Given the description of an element on the screen output the (x, y) to click on. 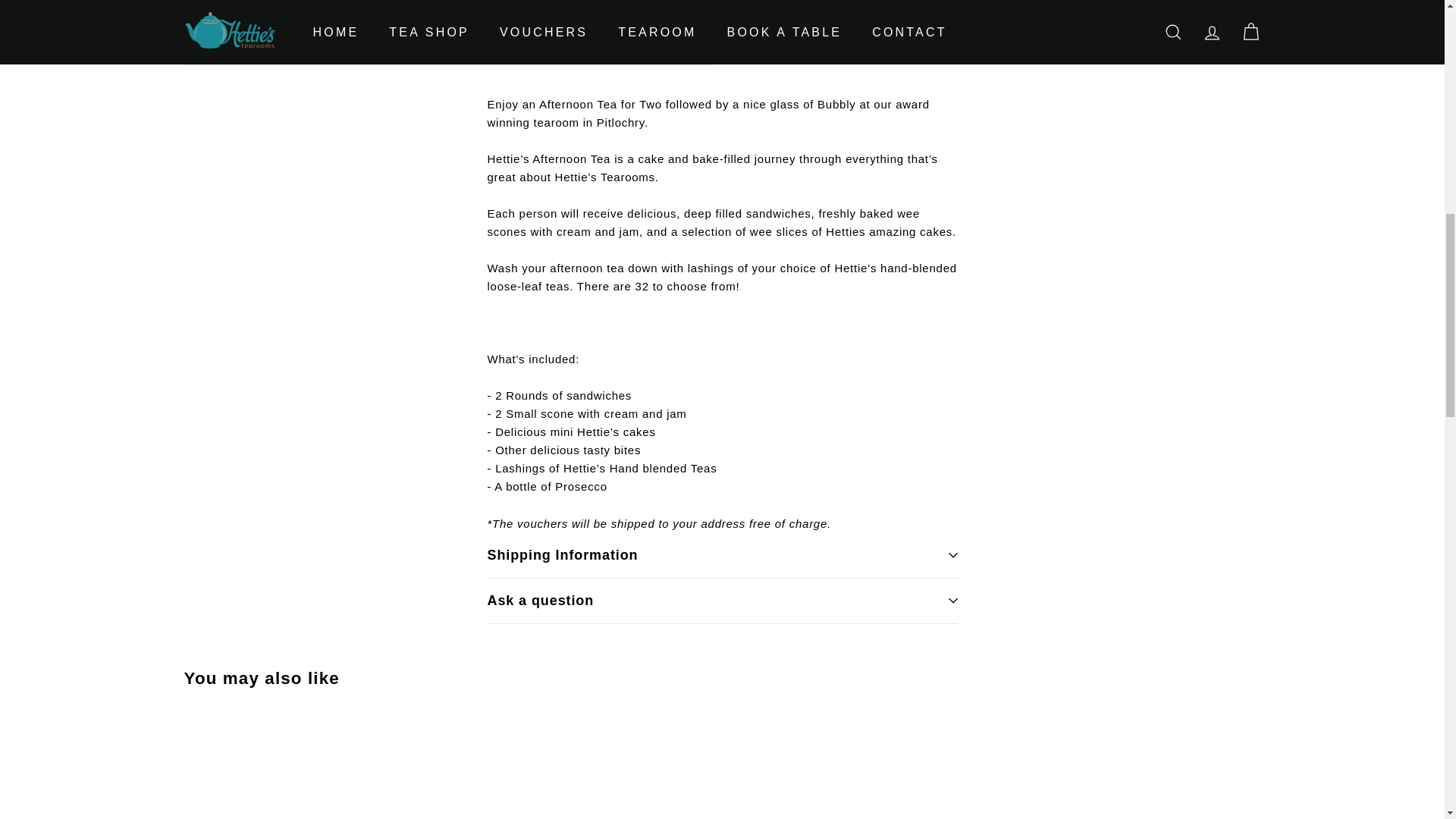
Pin on Pinterest (939, 33)
Tweet on Twitter (868, 33)
Share on Facebook (794, 33)
